Given the description of an element on the screen output the (x, y) to click on. 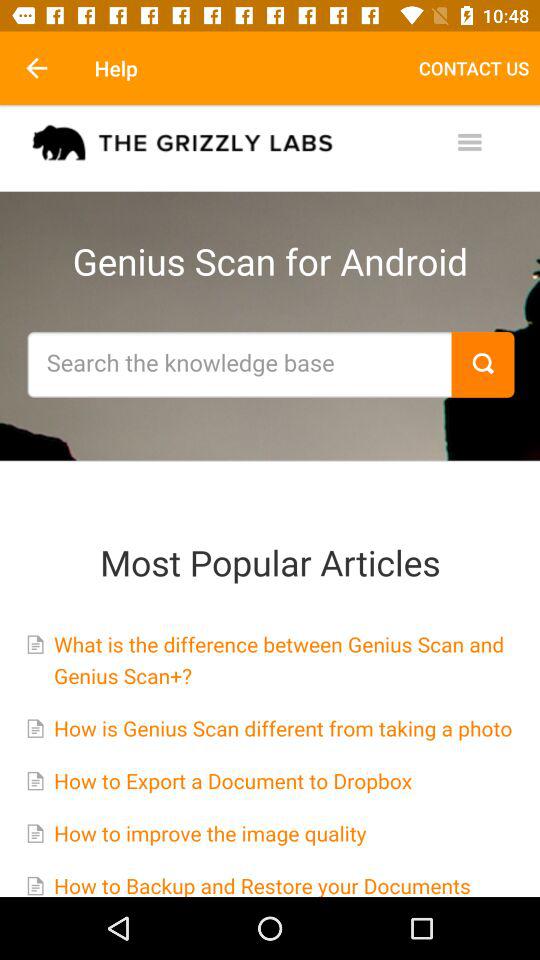
launch the item to the left of help item (36, 68)
